Given the description of an element on the screen output the (x, y) to click on. 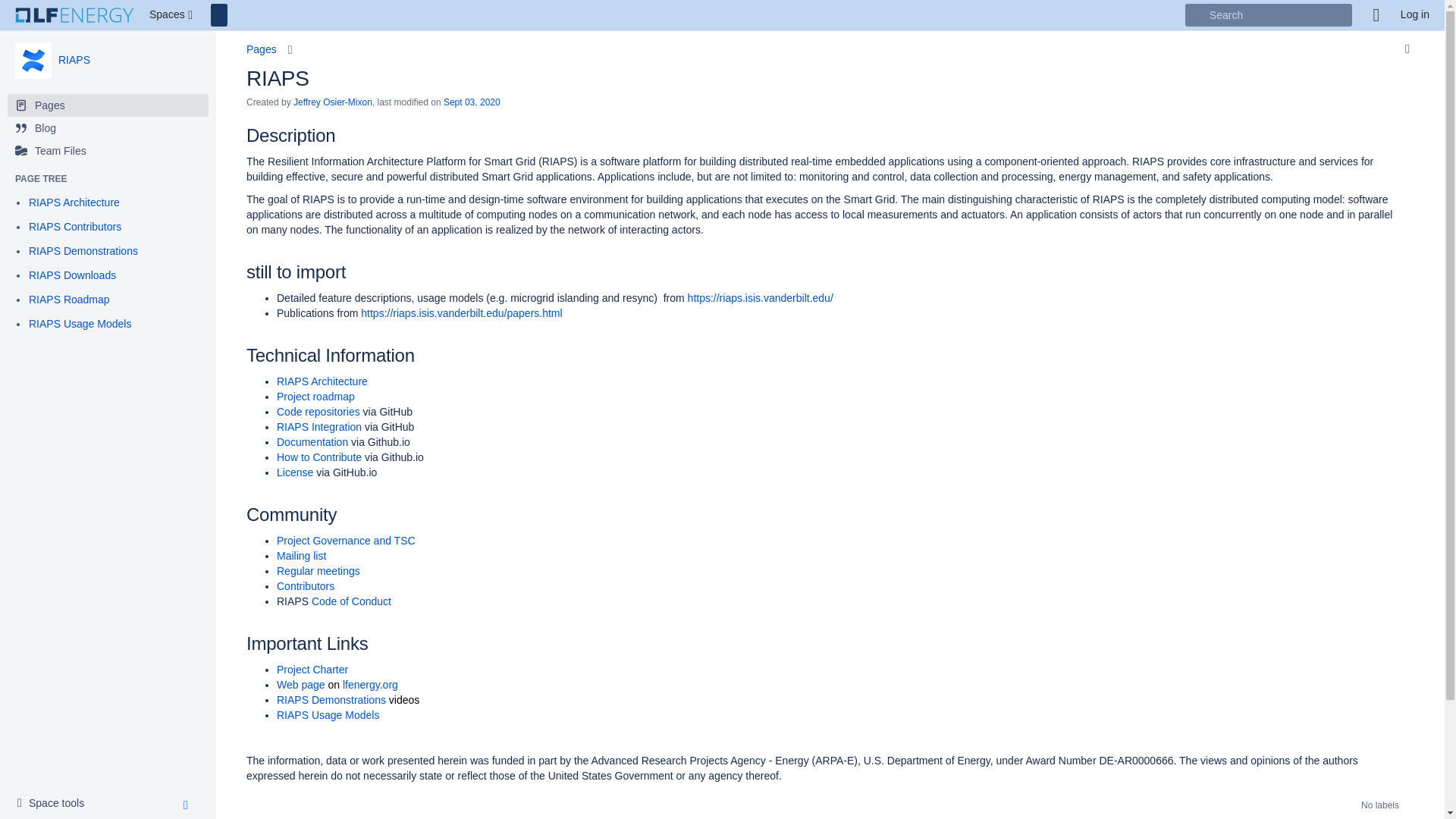
RIAPS Roadmap (69, 299)
RIAPS (74, 60)
Blog (107, 128)
Show changes (472, 102)
RIAPS Downloads (72, 275)
Help (1376, 15)
Help (1376, 15)
RIAPS (32, 60)
Spaces (172, 15)
RIAPS Demonstrations (83, 251)
